Given the description of an element on the screen output the (x, y) to click on. 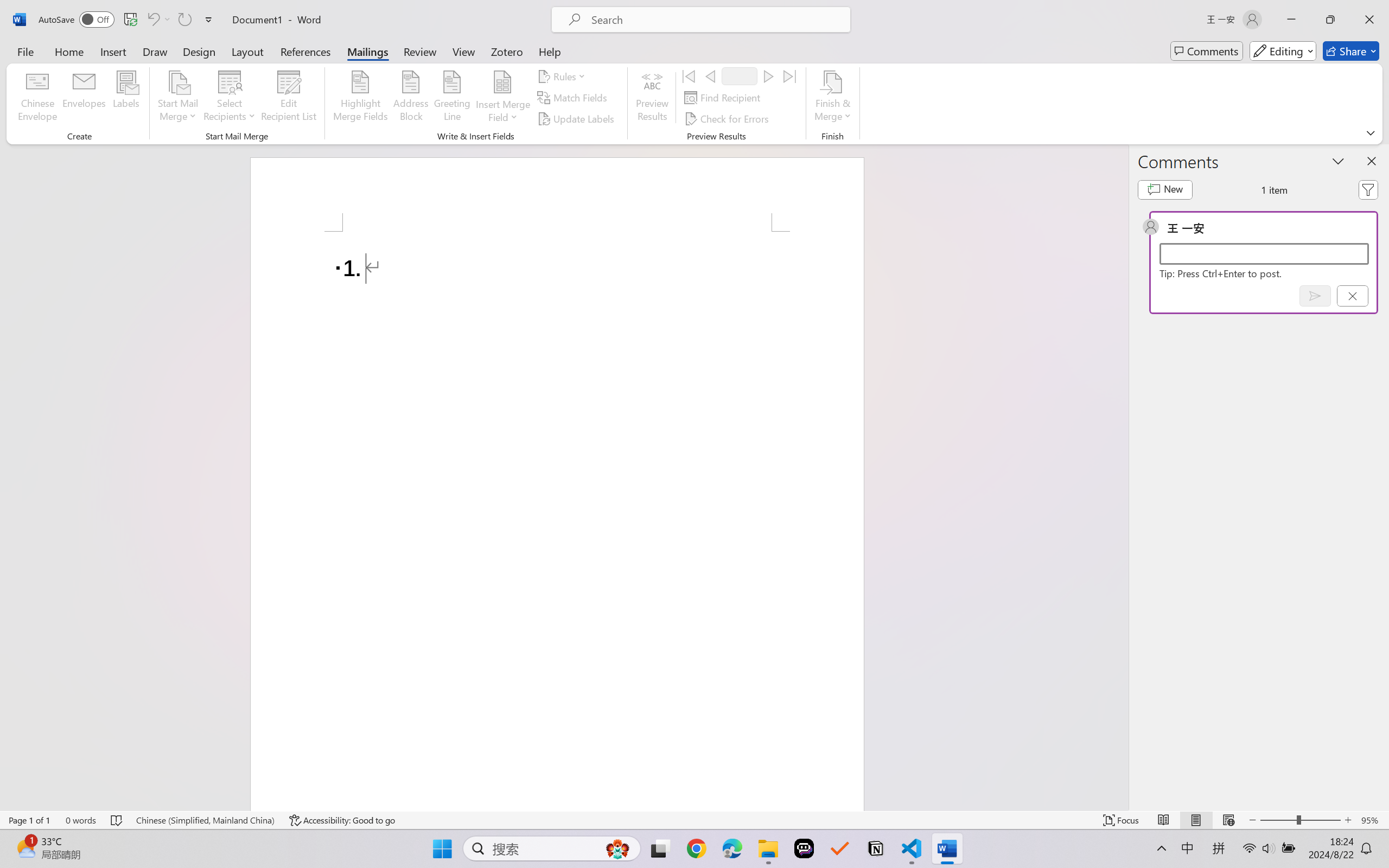
Undo Number Default (158, 19)
New comment (1165, 189)
